Given the description of an element on the screen output the (x, y) to click on. 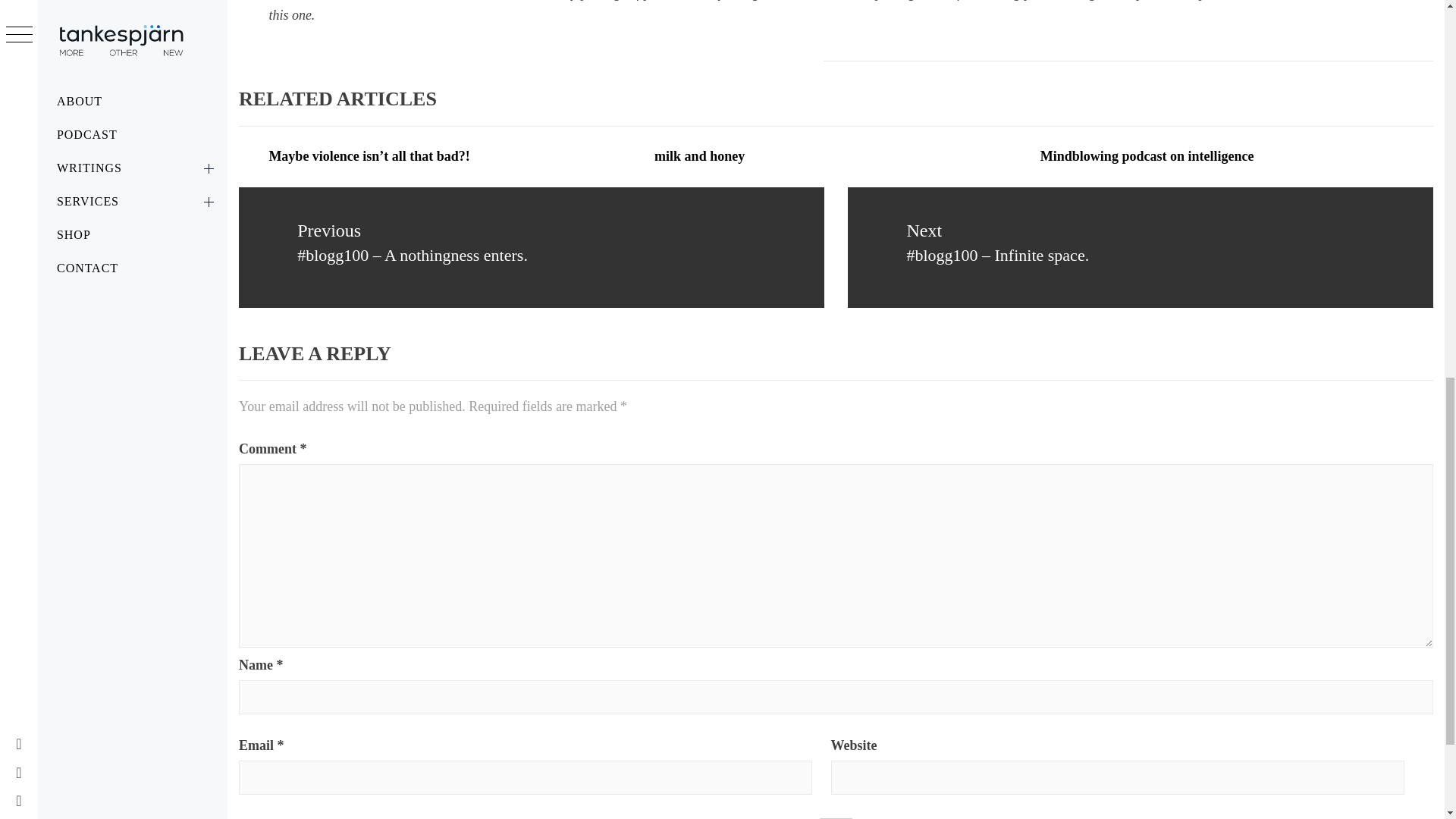
milk and honey (698, 155)
Mindblowing podcast on intelligence (1147, 155)
